Given the description of an element on the screen output the (x, y) to click on. 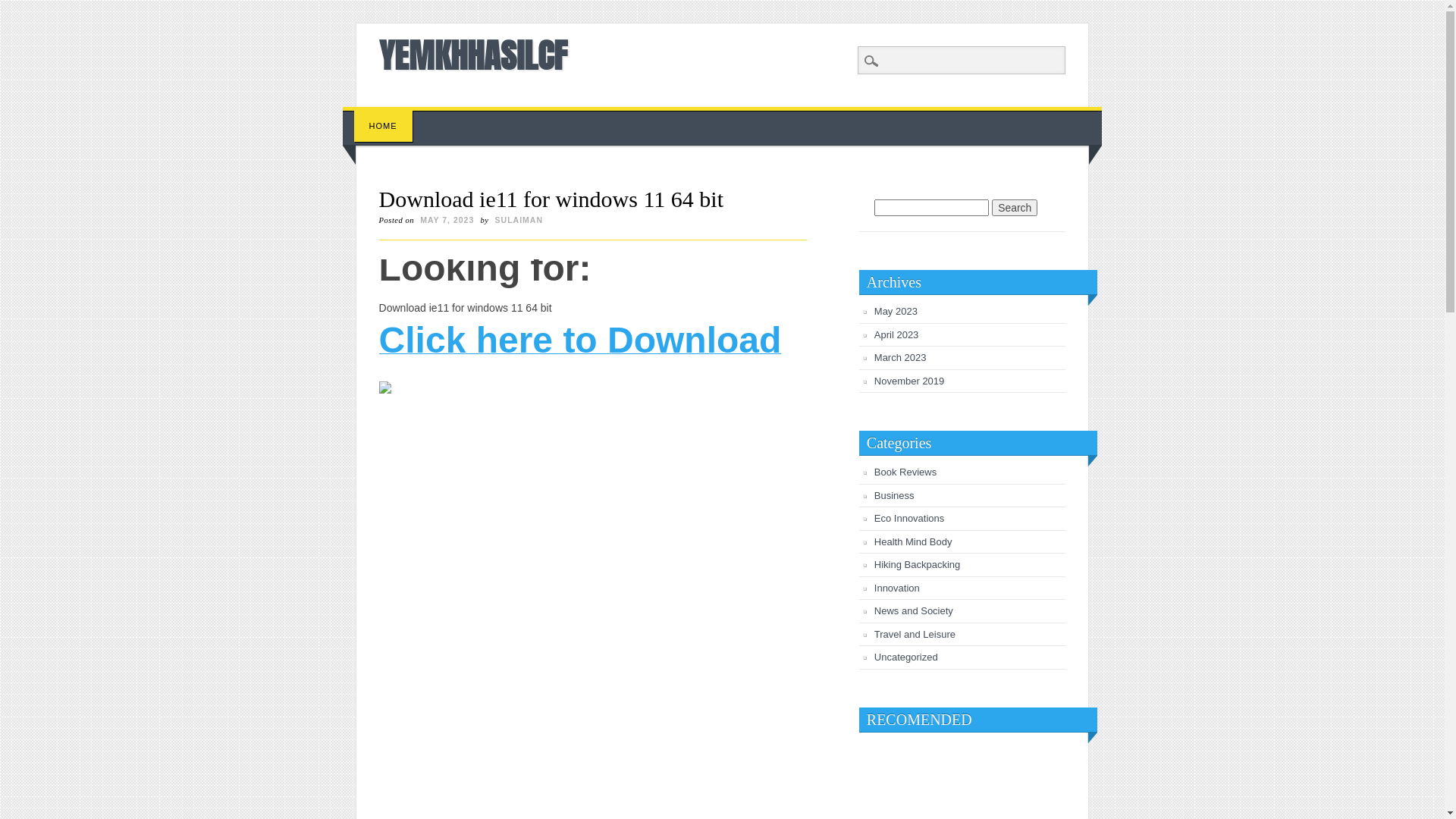
Click here to Download Element type: text (580, 348)
Health Mind Body Element type: text (913, 541)
Eco Innovations Element type: text (909, 518)
Skip to content Element type: text (377, 114)
Travel and Leisure Element type: text (914, 634)
Search Element type: text (1014, 207)
SULAIMAN Element type: text (518, 219)
Hiking Backpacking Element type: text (917, 564)
May 2023 Element type: text (895, 310)
Uncategorized Element type: text (906, 656)
Book Reviews Element type: text (905, 471)
March 2023 Element type: text (900, 357)
Download ie11 for windows 11 64 bit Element type: text (551, 198)
April 2023 Element type: text (896, 334)
Search Element type: text (22, 8)
News and Society Element type: text (913, 610)
Innovation Element type: text (896, 587)
Business Element type: text (894, 495)
MAY 7, 2023 Element type: text (446, 219)
November 2019 Element type: text (909, 380)
YEMKHHASILCF Element type: text (473, 55)
HOME Element type: text (383, 125)
